Given the description of an element on the screen output the (x, y) to click on. 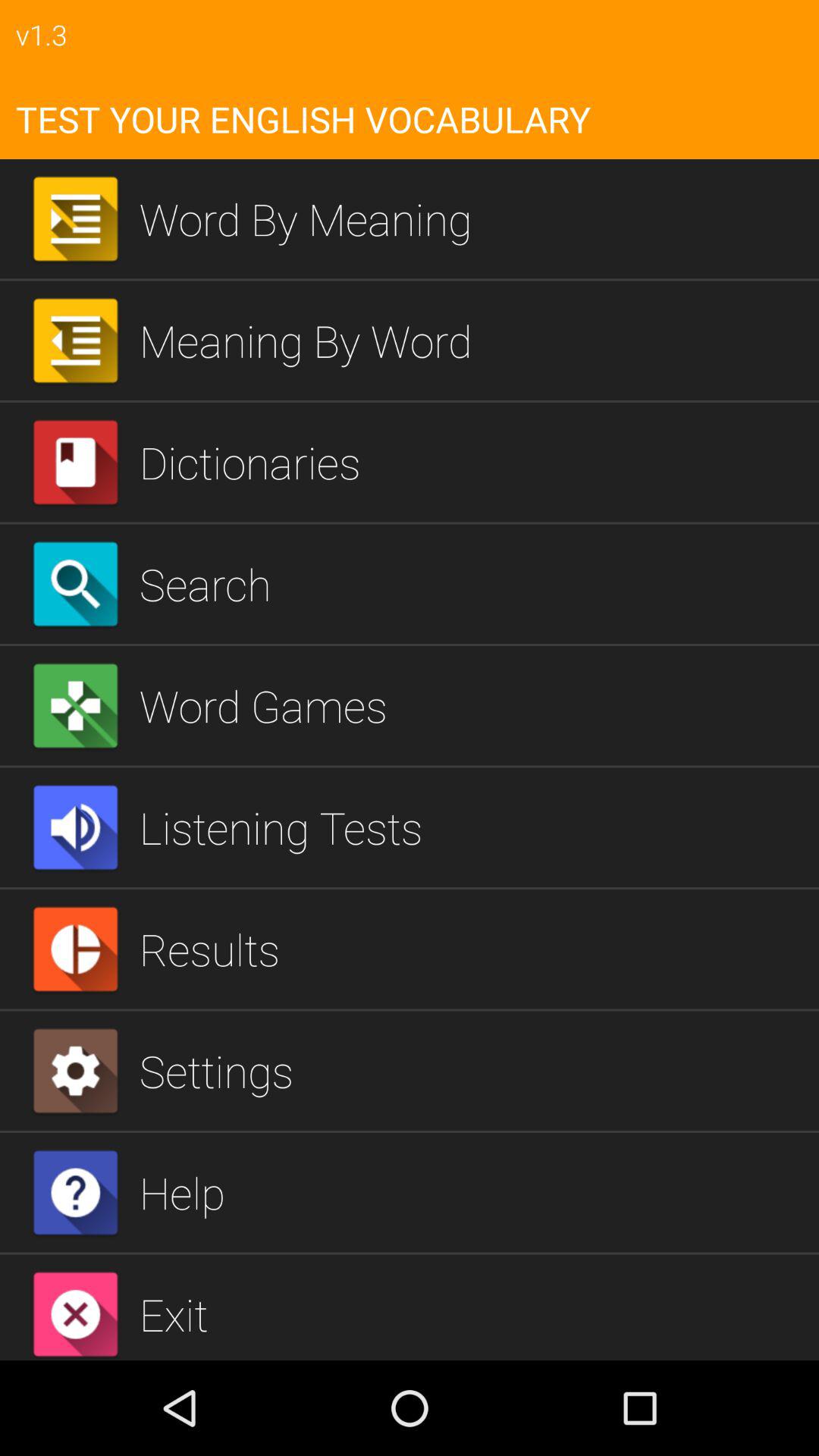
tap the icon above the results (473, 827)
